Given the description of an element on the screen output the (x, y) to click on. 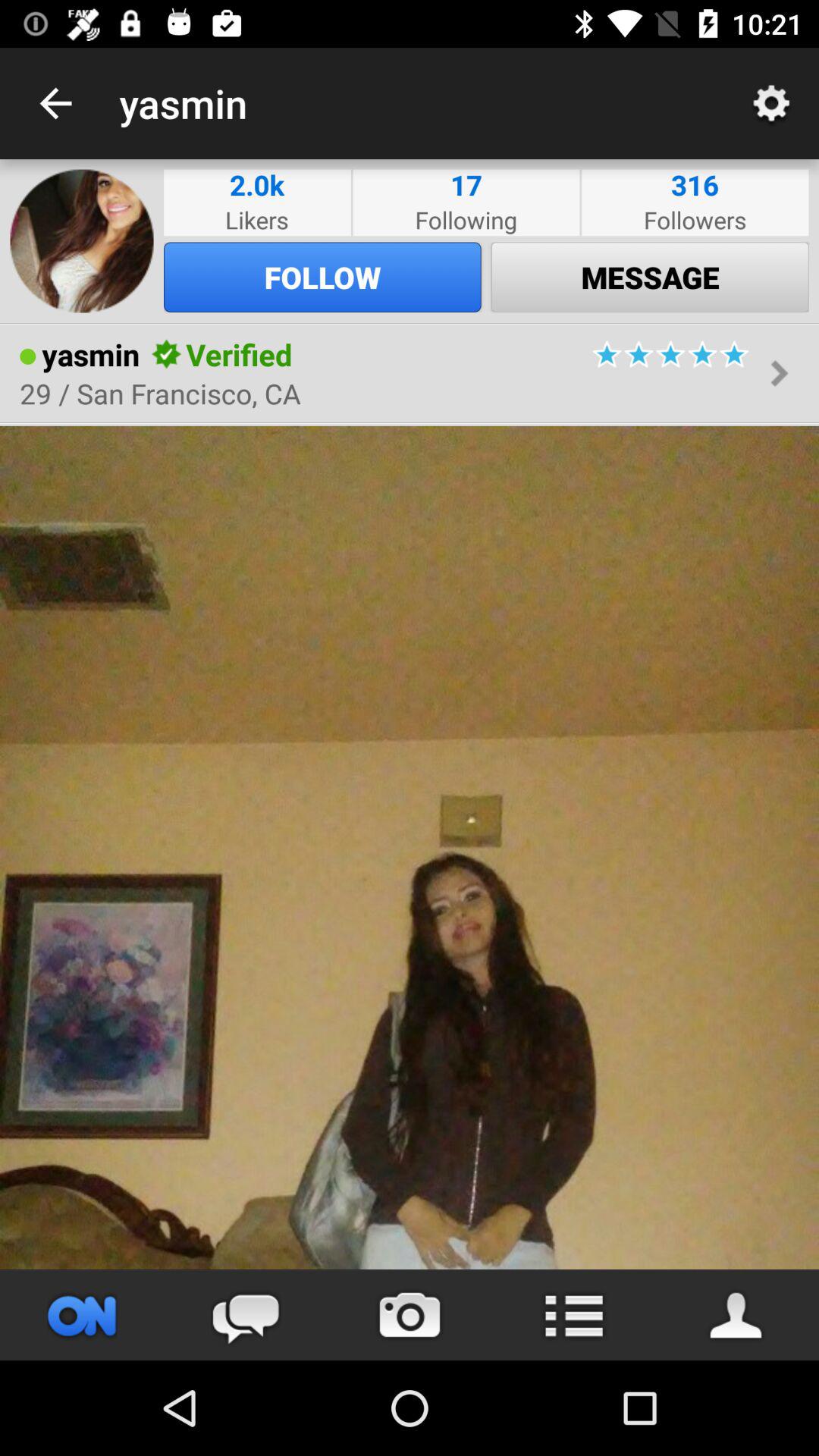
person (409, 847)
